Given the description of an element on the screen output the (x, y) to click on. 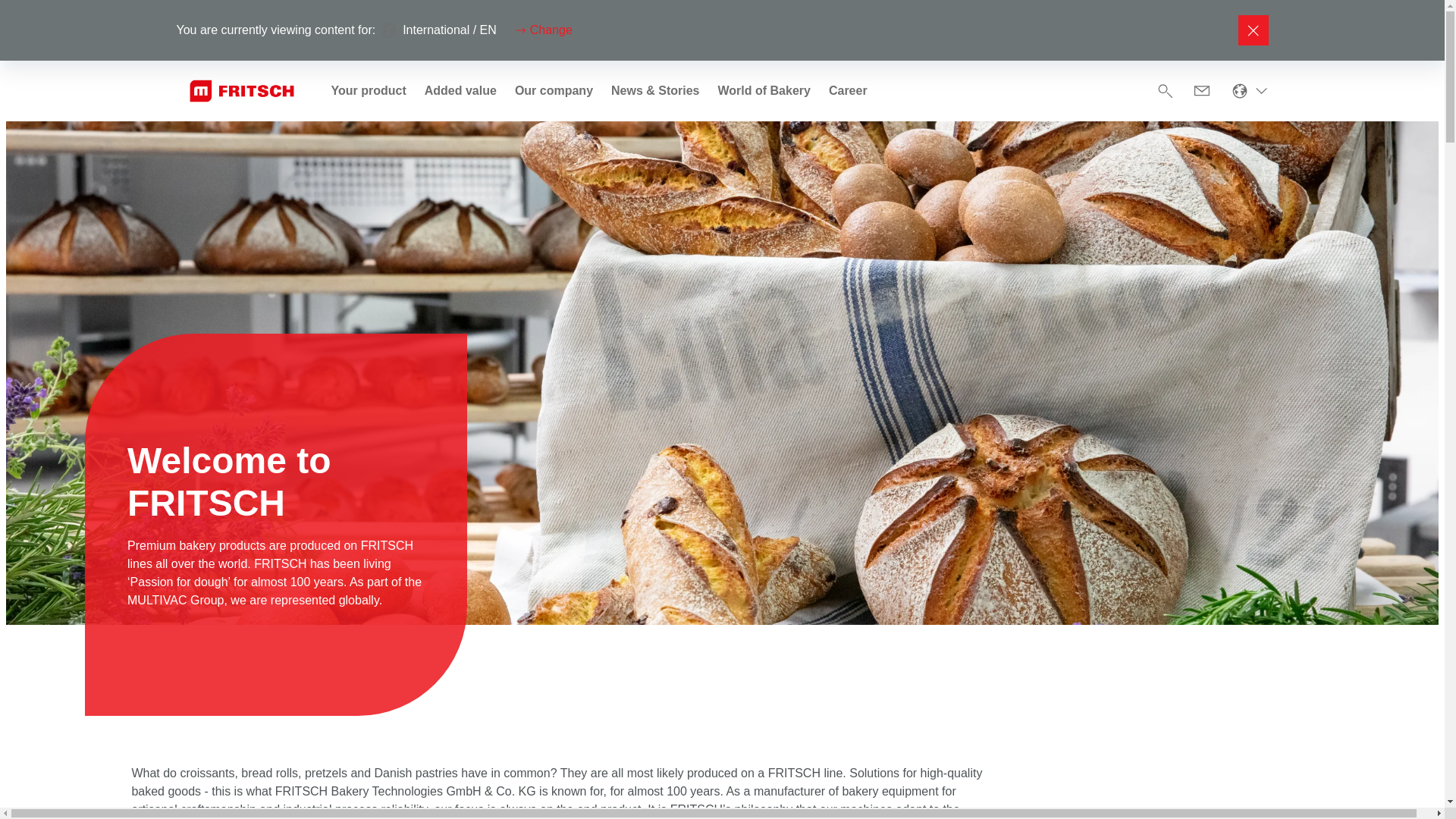
World of Bakery (763, 90)
Career (847, 90)
Our company (553, 90)
Added value (460, 90)
Change (543, 30)
Your product (368, 90)
